Given the description of an element on the screen output the (x, y) to click on. 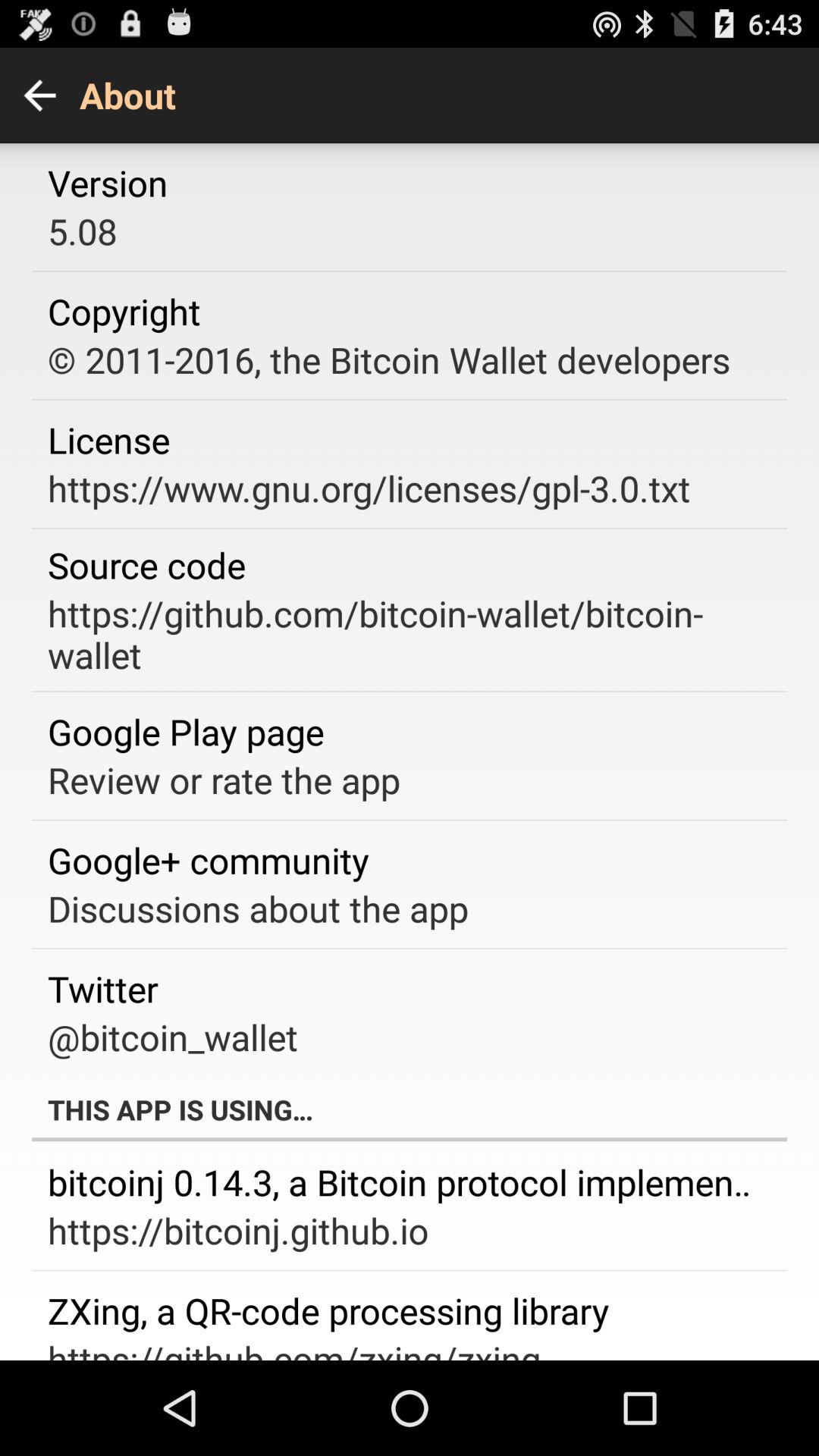
click review or rate item (223, 779)
